Given the description of an element on the screen output the (x, y) to click on. 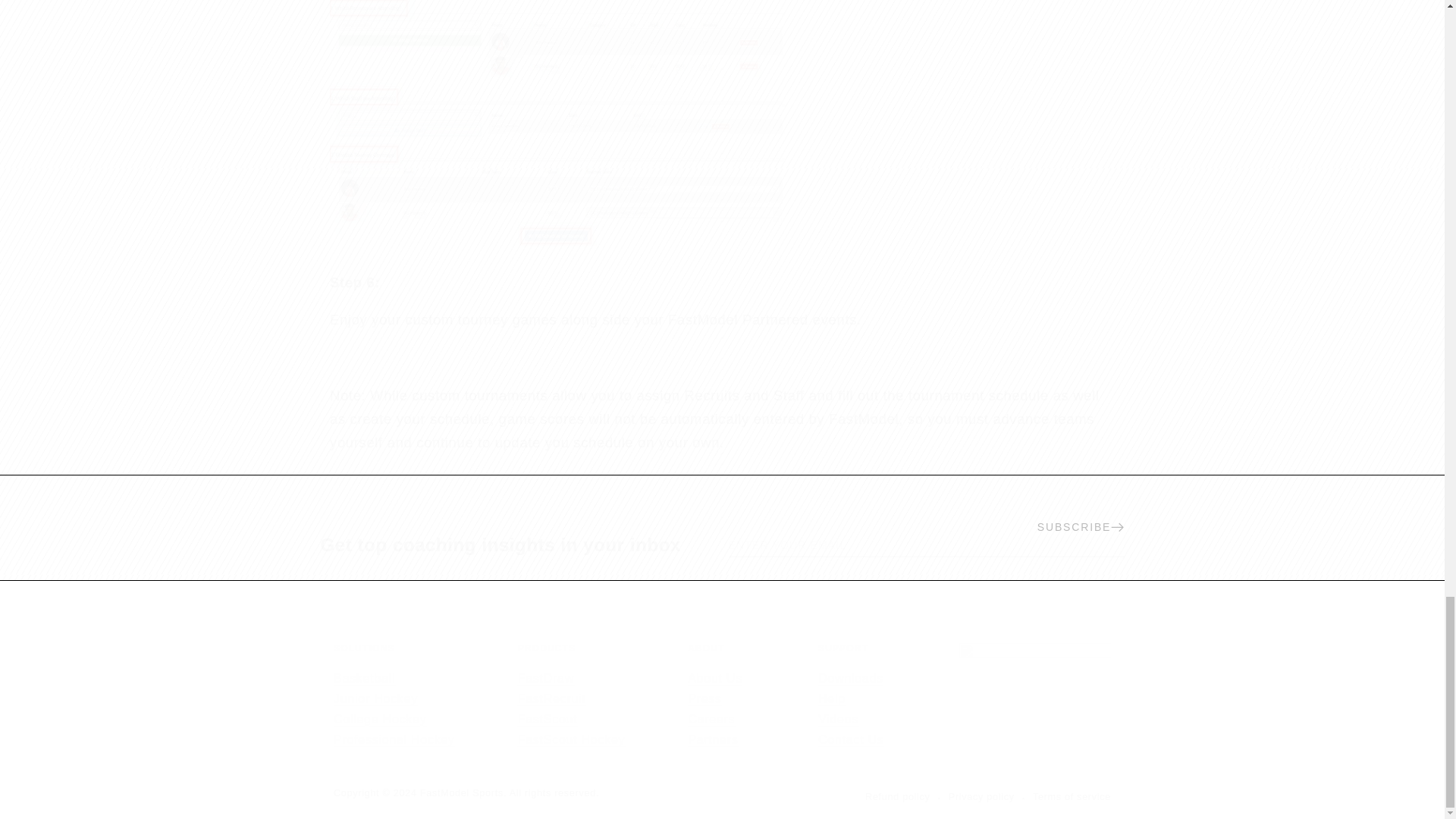
Get top coaching insights in your inbox (572, 696)
ENTER YOUR EMAIL (518, 544)
